Given the description of an element on the screen output the (x, y) to click on. 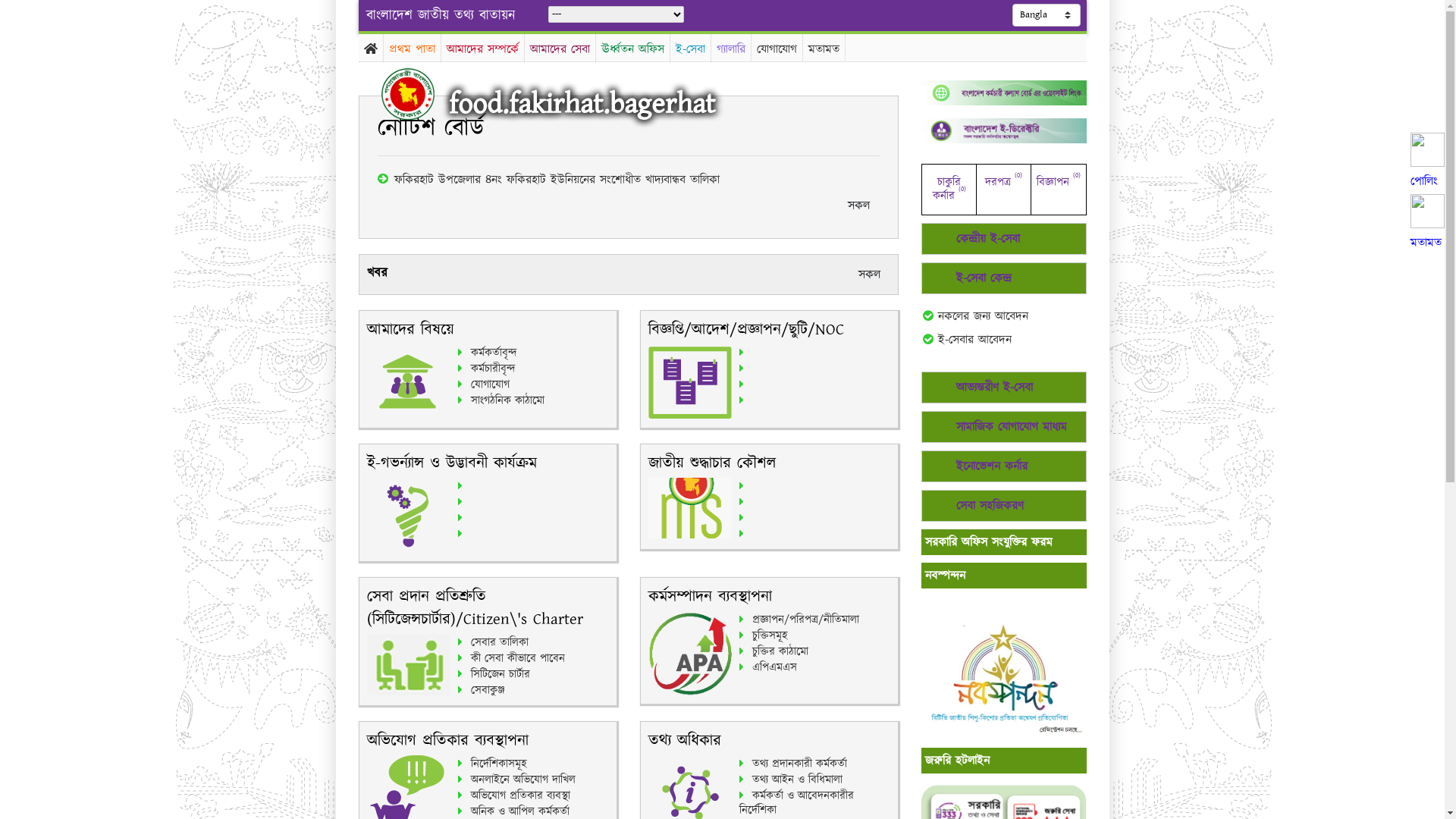
food.fakirhat.bagerhat Element type: text (581, 104)

                
             Element type: hover (420, 93)
